Given the description of an element on the screen output the (x, y) to click on. 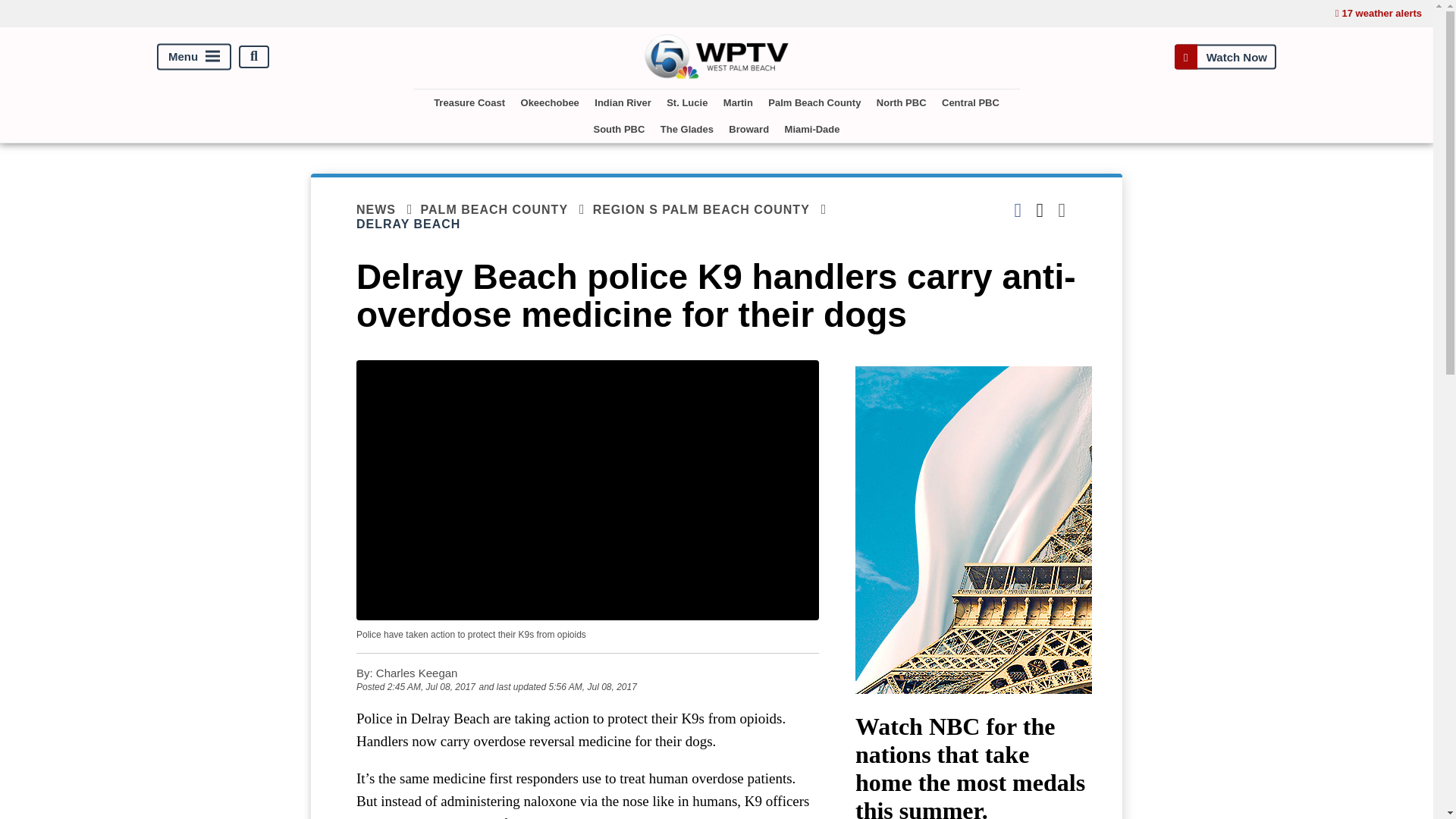
Watch Now (1224, 56)
Menu (194, 56)
